Given the description of an element on the screen output the (x, y) to click on. 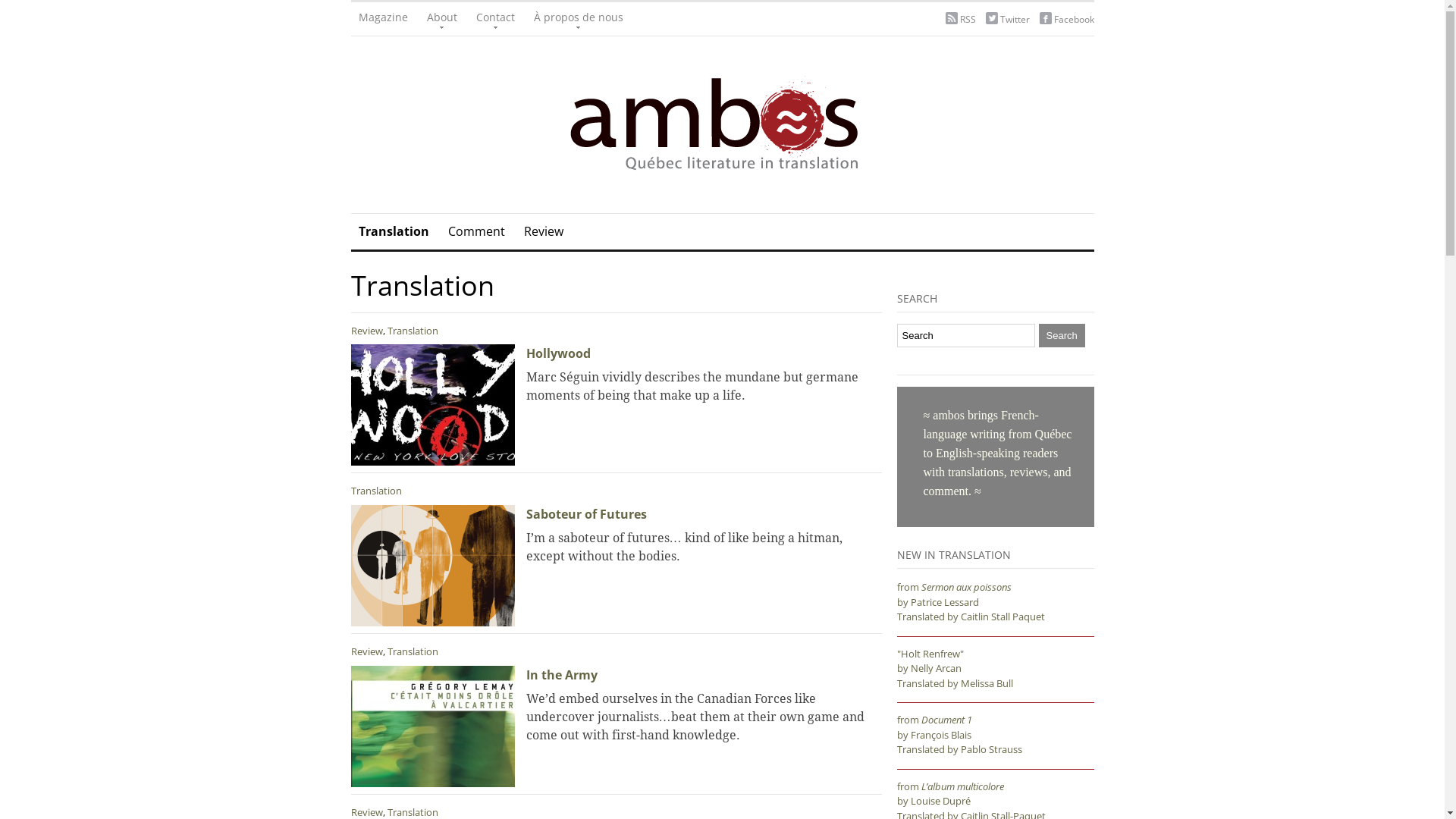
Saboteur of Futures Element type: text (586, 513)
Hollywood Element type: hover (432, 404)
Search Element type: text (1061, 335)
Magazine Element type: text (382, 18)
Review Element type: text (366, 330)
In the Army Element type: hover (432, 725)
"Holt Renfrew"
by Nelly Arcan
Translated by Melissa Bull Element type: text (954, 668)
Translation Element type: text (411, 330)
Translation Element type: text (411, 651)
Hollywood Element type: text (558, 353)
Twitter Element type: text (1014, 18)
Facebook Element type: text (1074, 18)
Review Element type: text (542, 231)
Translation Element type: text (375, 490)
Translation Element type: text (393, 231)
Review Element type: text (366, 651)
Comment Element type: text (475, 231)
RSS Element type: text (967, 18)
In the Army Element type: text (561, 674)
Saboteur of Futures Element type: hover (432, 565)
